Given the description of an element on the screen output the (x, y) to click on. 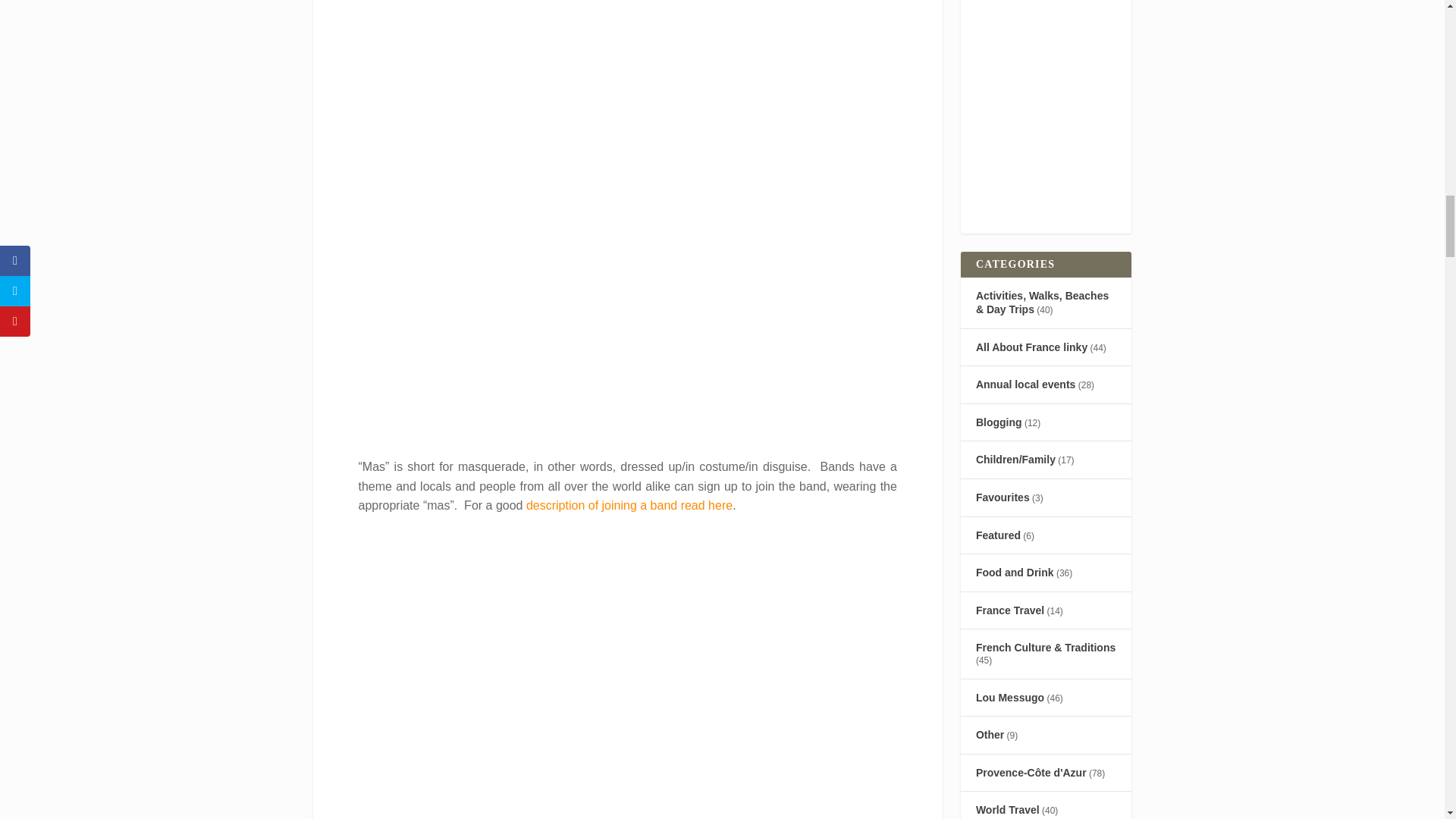
description of joining a band read here (628, 504)
